Given the description of an element on the screen output the (x, y) to click on. 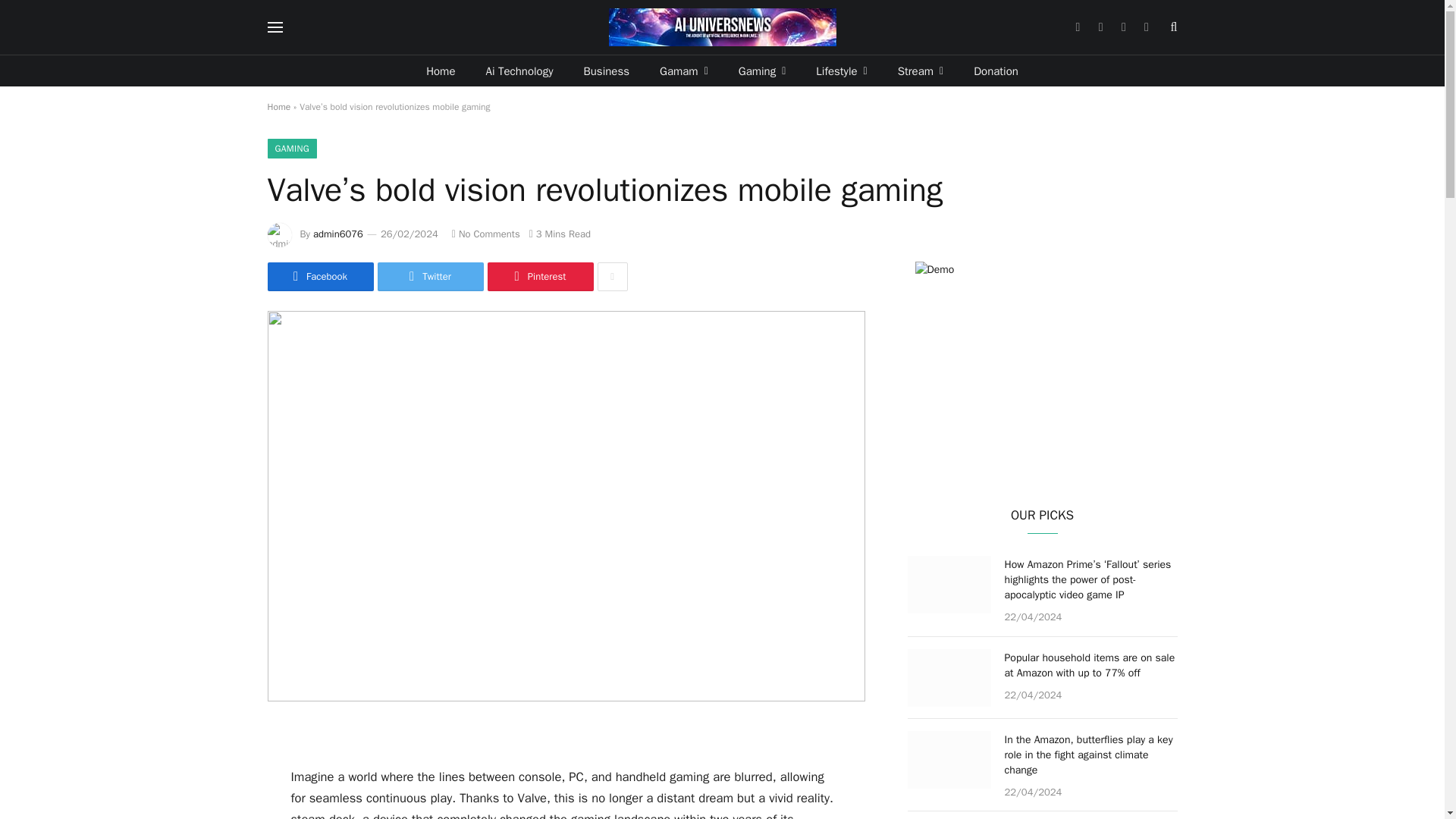
Ai Univers News (721, 27)
Posts by admin6076 (337, 233)
Show More Social Sharing (611, 276)
Share on Facebook (319, 276)
Share on Pinterest (539, 276)
